Given the description of an element on the screen output the (x, y) to click on. 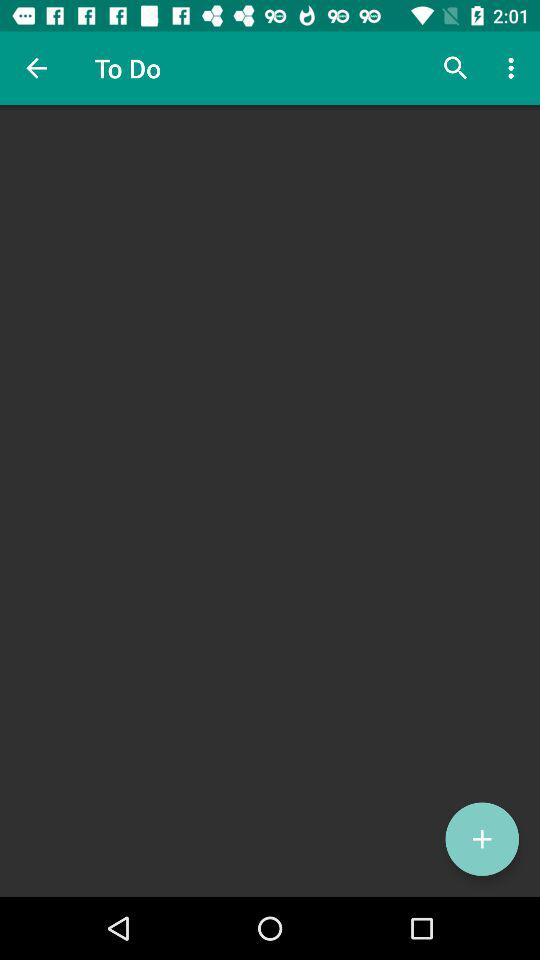
select icon to the right of the to do item (455, 67)
